Given the description of an element on the screen output the (x, y) to click on. 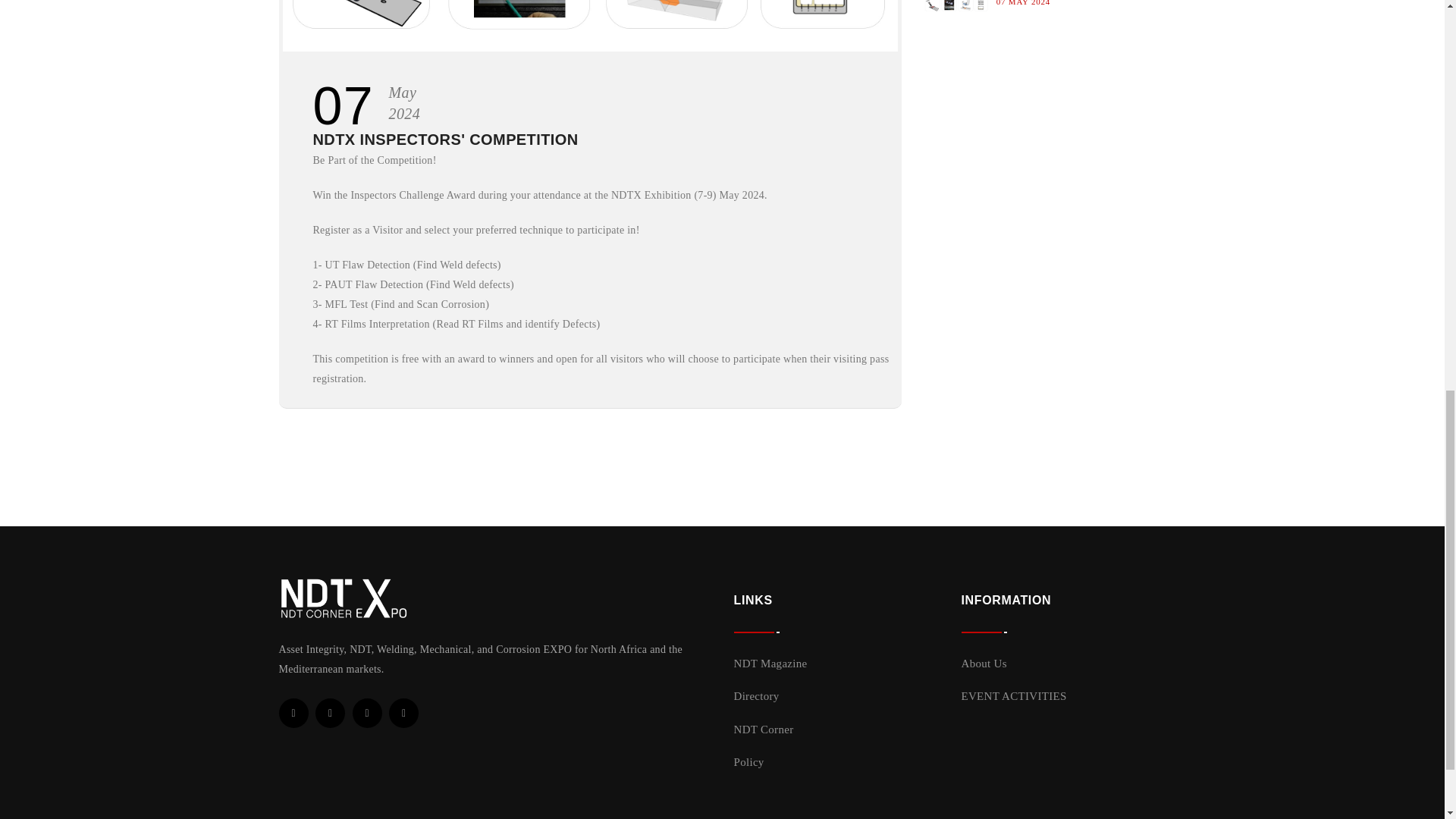
NDT Corner (763, 729)
Policy (748, 761)
NDTX INSPECTORS' COMPETITION (445, 139)
NDT Magazine (770, 663)
NDTX INSPECTORS' COMPETITION (445, 139)
Directory (755, 695)
